Given the description of an element on the screen output the (x, y) to click on. 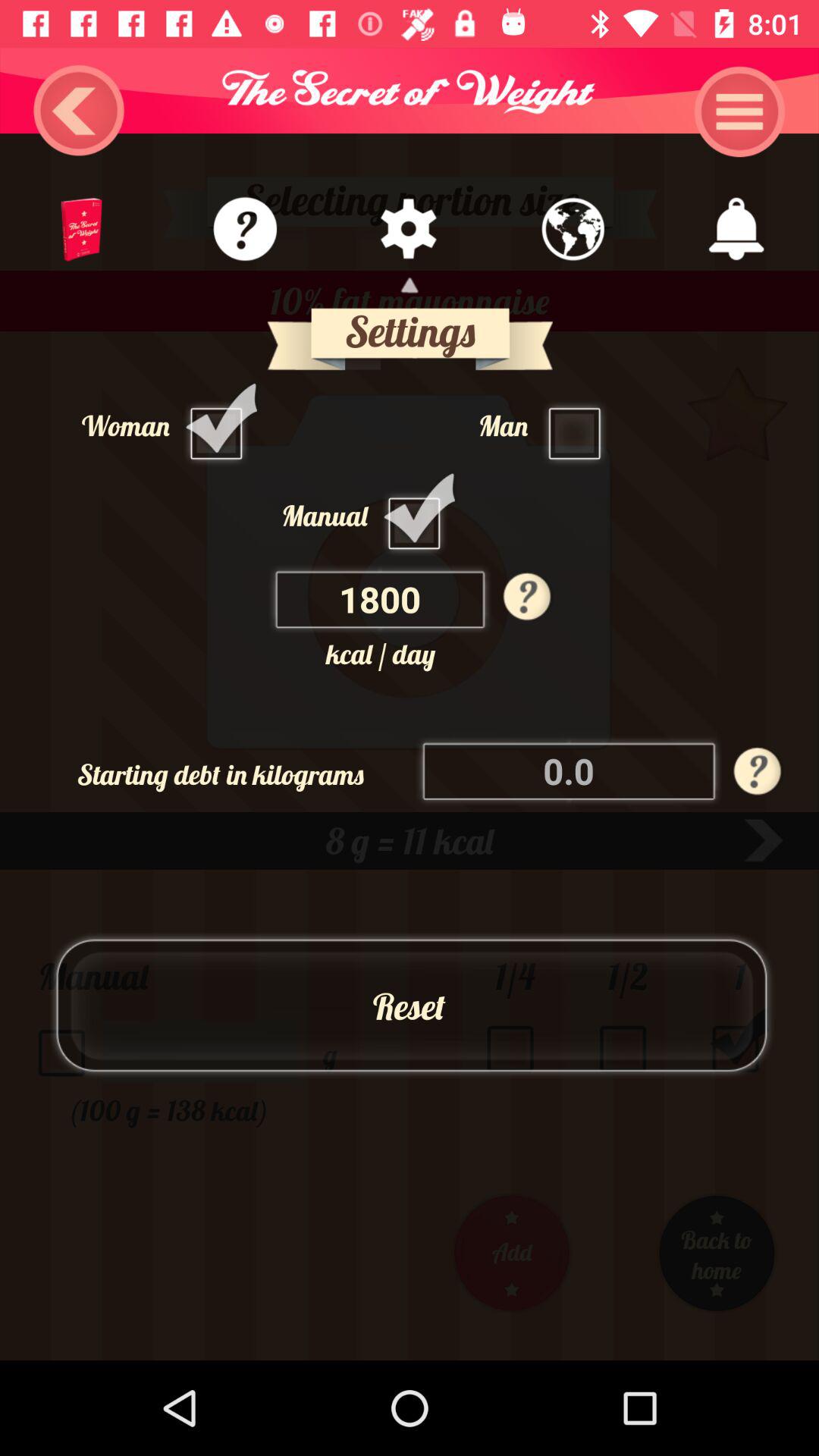
edit starting debt in kilograms (569, 770)
